Given the description of an element on the screen output the (x, y) to click on. 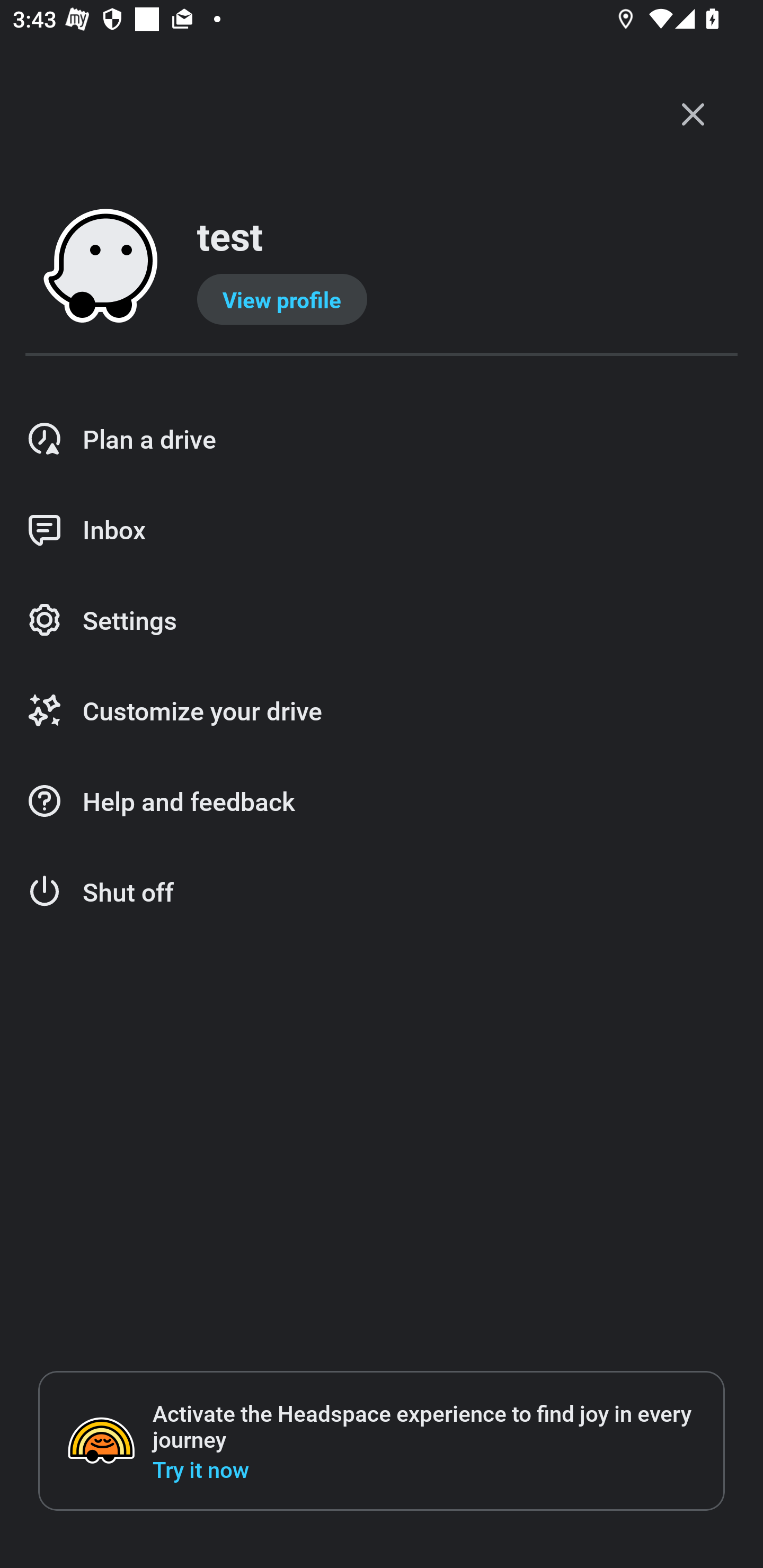
test View profile (381, 266)
View profile (281, 299)
ACTION_CELL_ICON Plan a drive ACTION_CELL_TEXT (381, 438)
ACTION_CELL_ICON Inbox ACTION_CELL_TEXT (381, 529)
ACTION_CELL_ICON Settings ACTION_CELL_TEXT (381, 620)
ACTION_CELL_ICON Shut off ACTION_CELL_TEXT (381, 891)
